Given the description of an element on the screen output the (x, y) to click on. 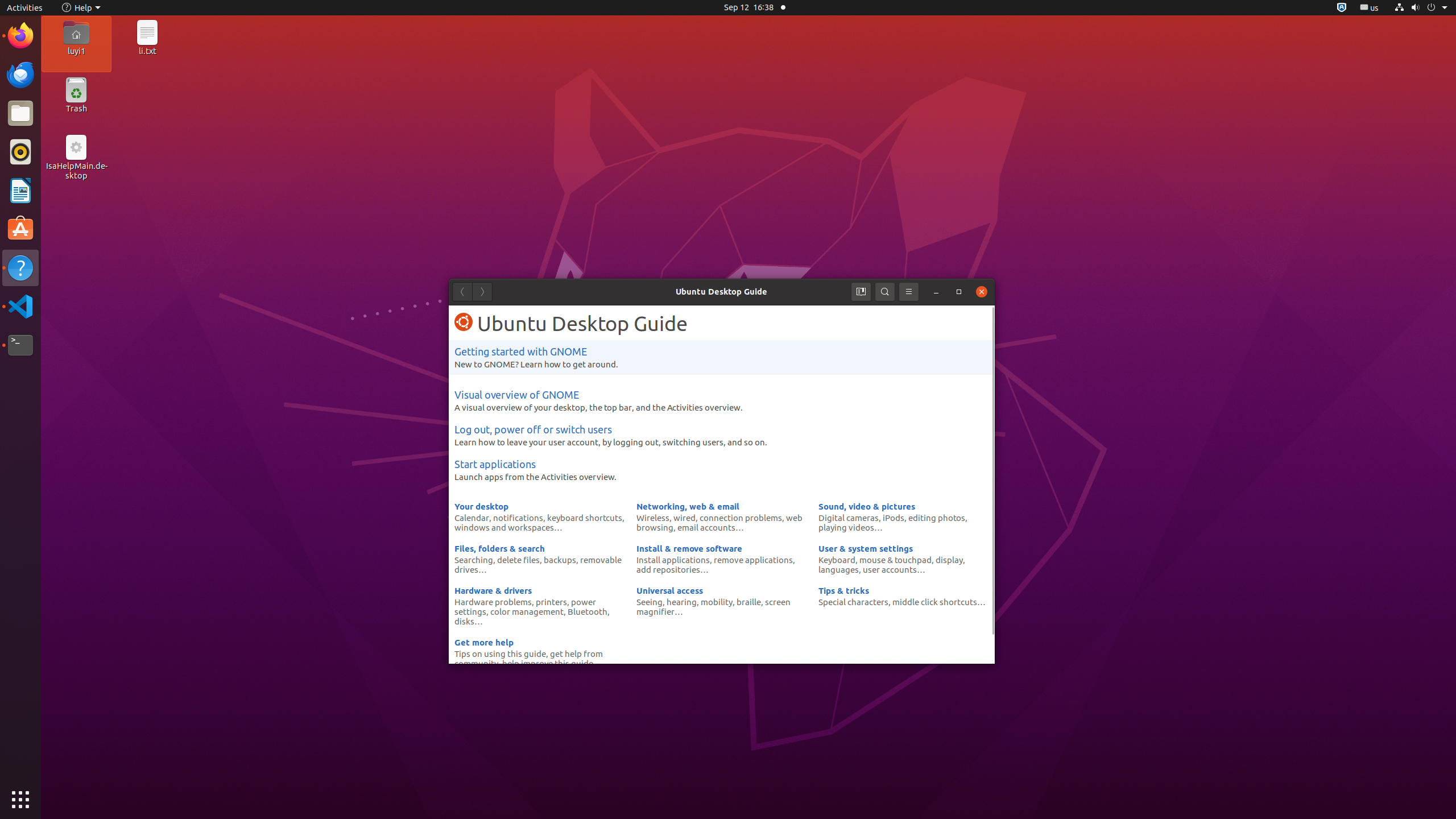
Find Element type: toggle-button (884, 291)
Install applications Element type: link (672, 559)
Firefox Web Browser Element type: push-button (20, 35)
Your desktop Element type: link (481, 506)
